Given the description of an element on the screen output the (x, y) to click on. 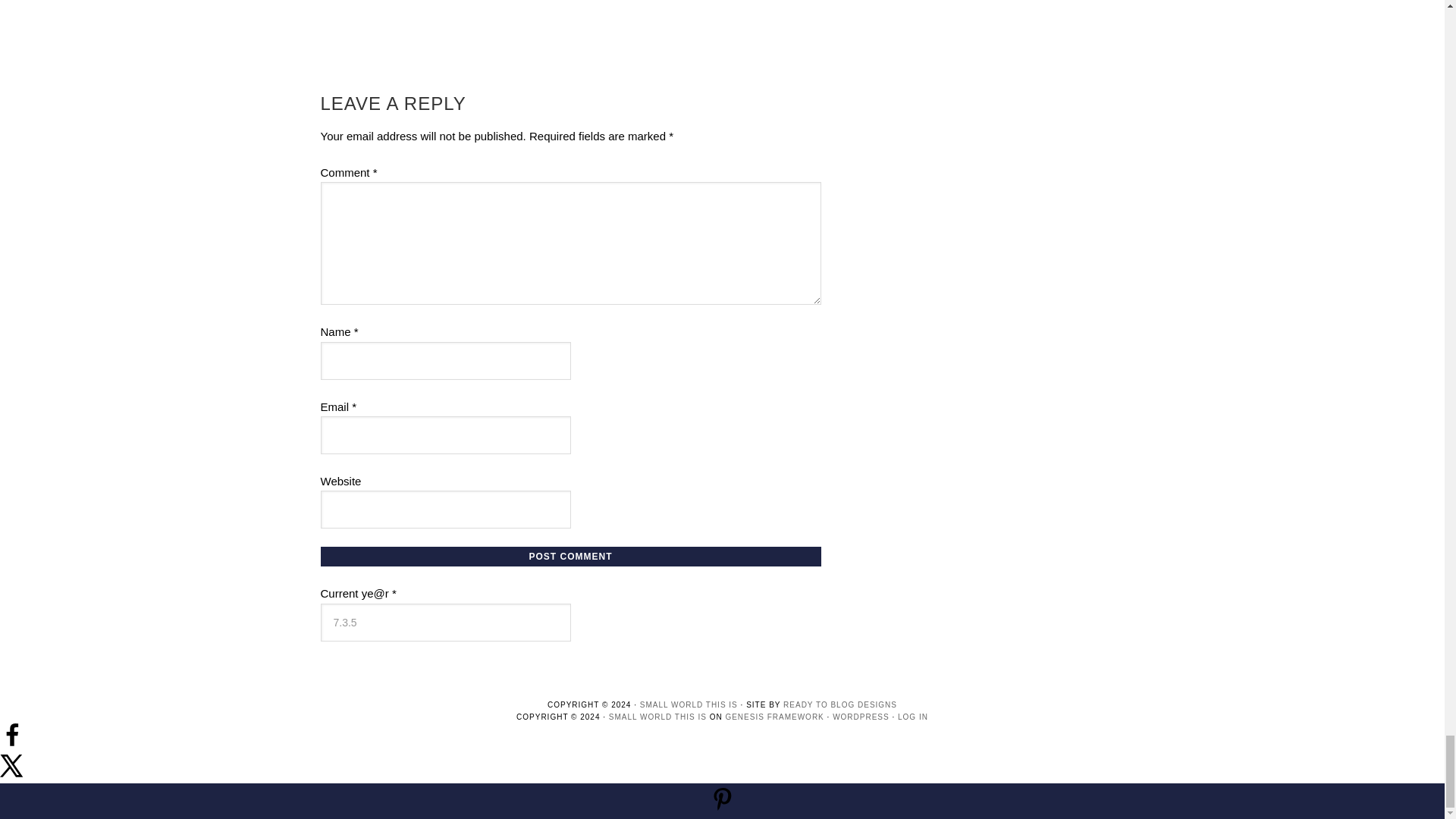
Post Comment (570, 556)
Share on Facebook (12, 743)
7.3.5 (445, 622)
Share on X (12, 773)
